Given the description of an element on the screen output the (x, y) to click on. 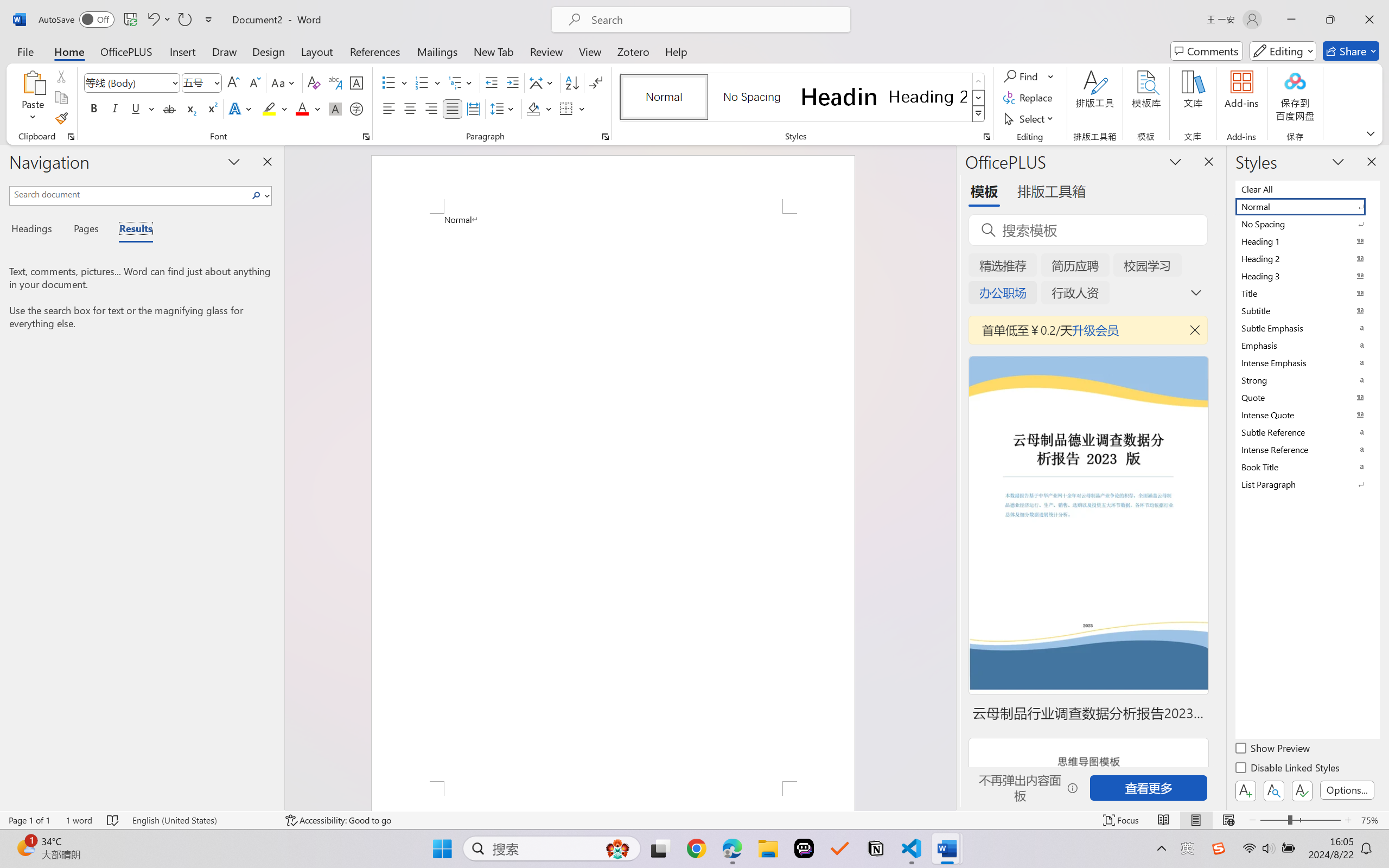
Grow Font (233, 82)
Page Number Page 1 of 1 (29, 819)
Show Preview (1273, 749)
Copy (60, 97)
List Paragraph (1306, 484)
Help (675, 51)
AutomationID: QuickStylesGallery (802, 97)
Change Case (284, 82)
Customize Quick Access Toolbar (208, 19)
Bullets (388, 82)
Search (259, 195)
Font (126, 82)
